Given the description of an element on the screen output the (x, y) to click on. 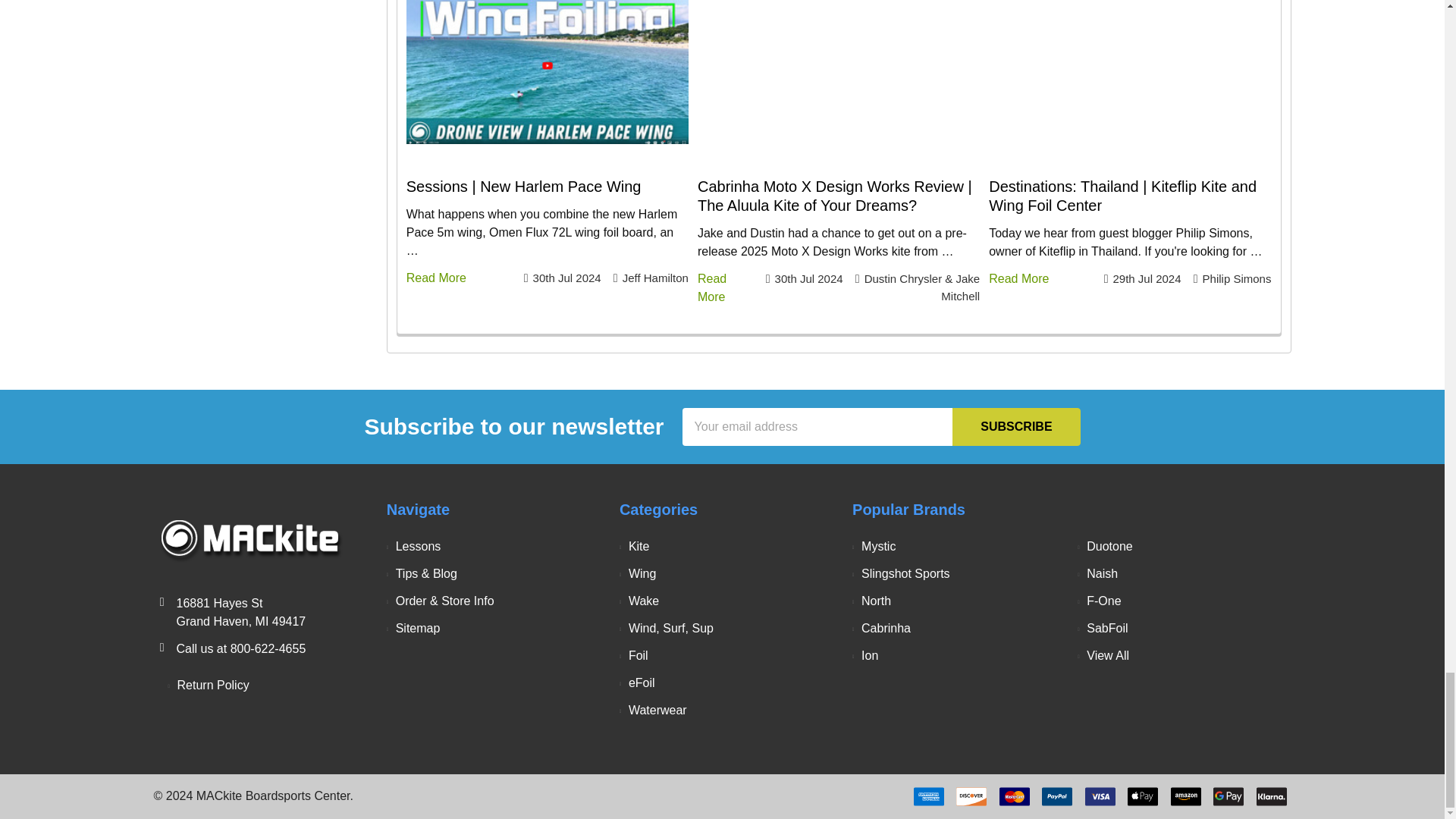
Subscribe (1016, 426)
